Given the description of an element on the screen output the (x, y) to click on. 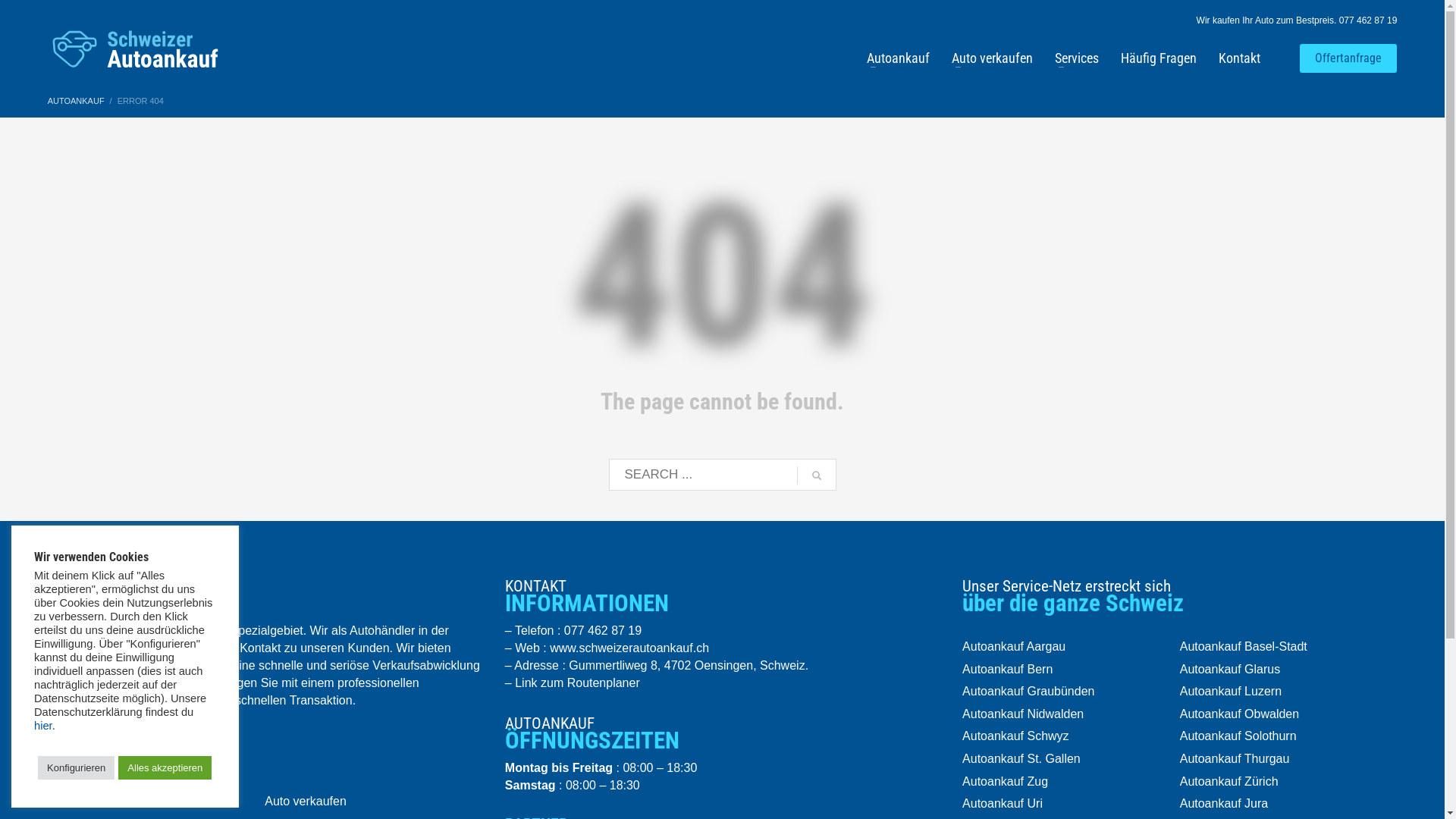
Alles akzeptieren Element type: text (164, 767)
Autoankauf Jura Element type: text (1288, 803)
Autoankauf Solothurn Element type: text (1288, 736)
Autoankauf Luzern Element type: text (1288, 691)
Autoankauf Basel-Stadt Element type: text (1288, 646)
Autoankauf Zug Element type: text (1070, 781)
Konfigurieren Element type: text (75, 767)
Autoankauf Aargau Element type: text (1070, 646)
Auto verkaufen Element type: text (373, 801)
Autoankauf Obwalden Element type: text (1288, 714)
Autoankauf Schwyz Element type: text (1070, 736)
go Element type: text (815, 475)
hier Element type: text (43, 725)
Autoankauf Uri Element type: text (1070, 803)
Wir kaufen dein auto - alle Marken zum besten Preis Element type: hover (134, 49)
Autoankauf St. Gallen Element type: text (1070, 758)
Autoankauf Nidwalden Element type: text (1070, 714)
Auto verkaufen Element type: text (991, 58)
Autoankauf Element type: text (156, 801)
Autoankauf Glarus Element type: text (1288, 669)
Services Element type: text (1076, 58)
Link zum Routenplaner Element type: text (577, 682)
Autoankauf Thurgau Element type: text (1288, 758)
www.schweizerautoankauf.ch Element type: text (629, 647)
Kontakt Element type: text (1239, 58)
AUTOANKAUF Element type: text (75, 100)
Autoankauf Element type: text (897, 58)
Gummertliweg 8, 4702 Oensingen, Schweiz. Element type: text (688, 664)
Autoankauf Bern Element type: text (1070, 669)
Offertanfrage Element type: text (1347, 58)
